Given the description of an element on the screen output the (x, y) to click on. 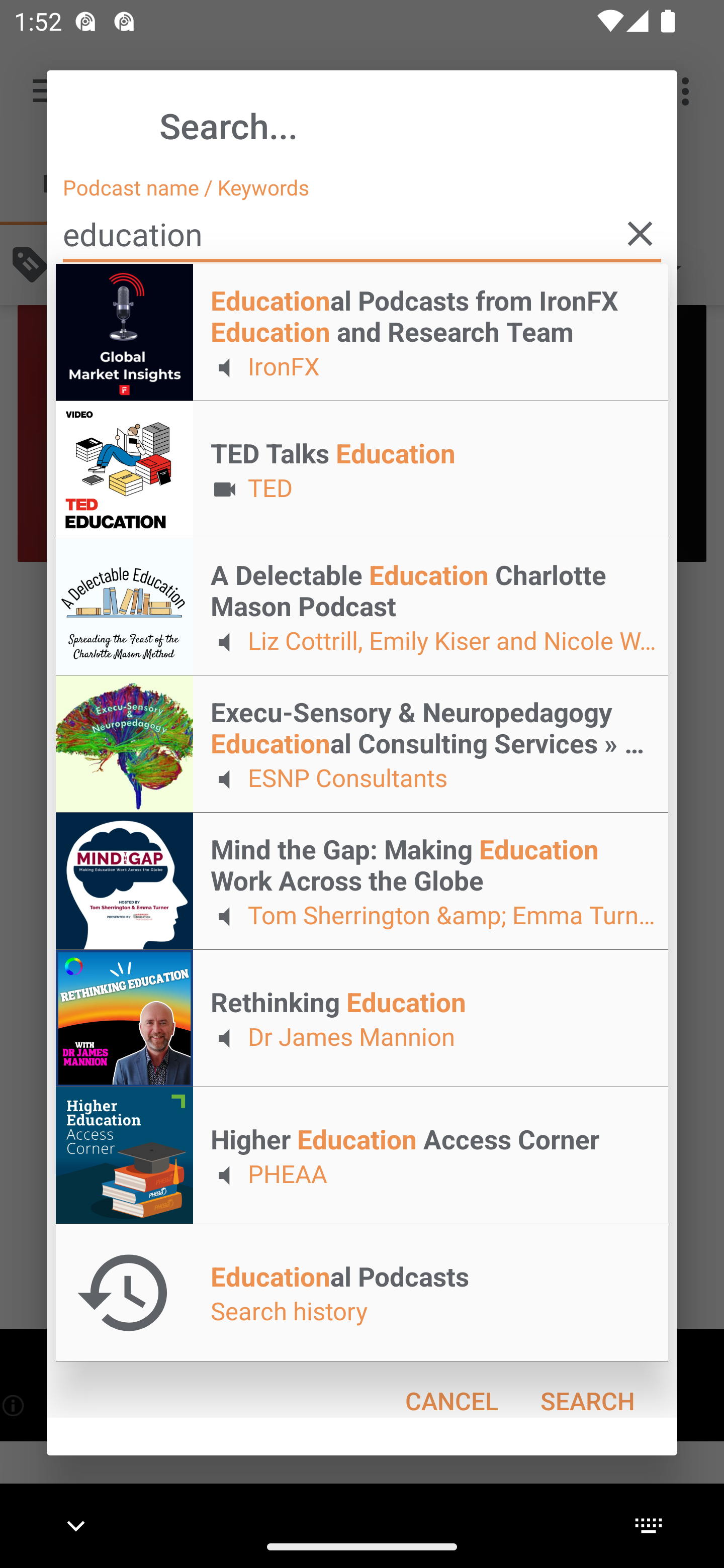
education (361, 234)
CANCEL (451, 1400)
SEARCH (587, 1400)
